Given the description of an element on the screen output the (x, y) to click on. 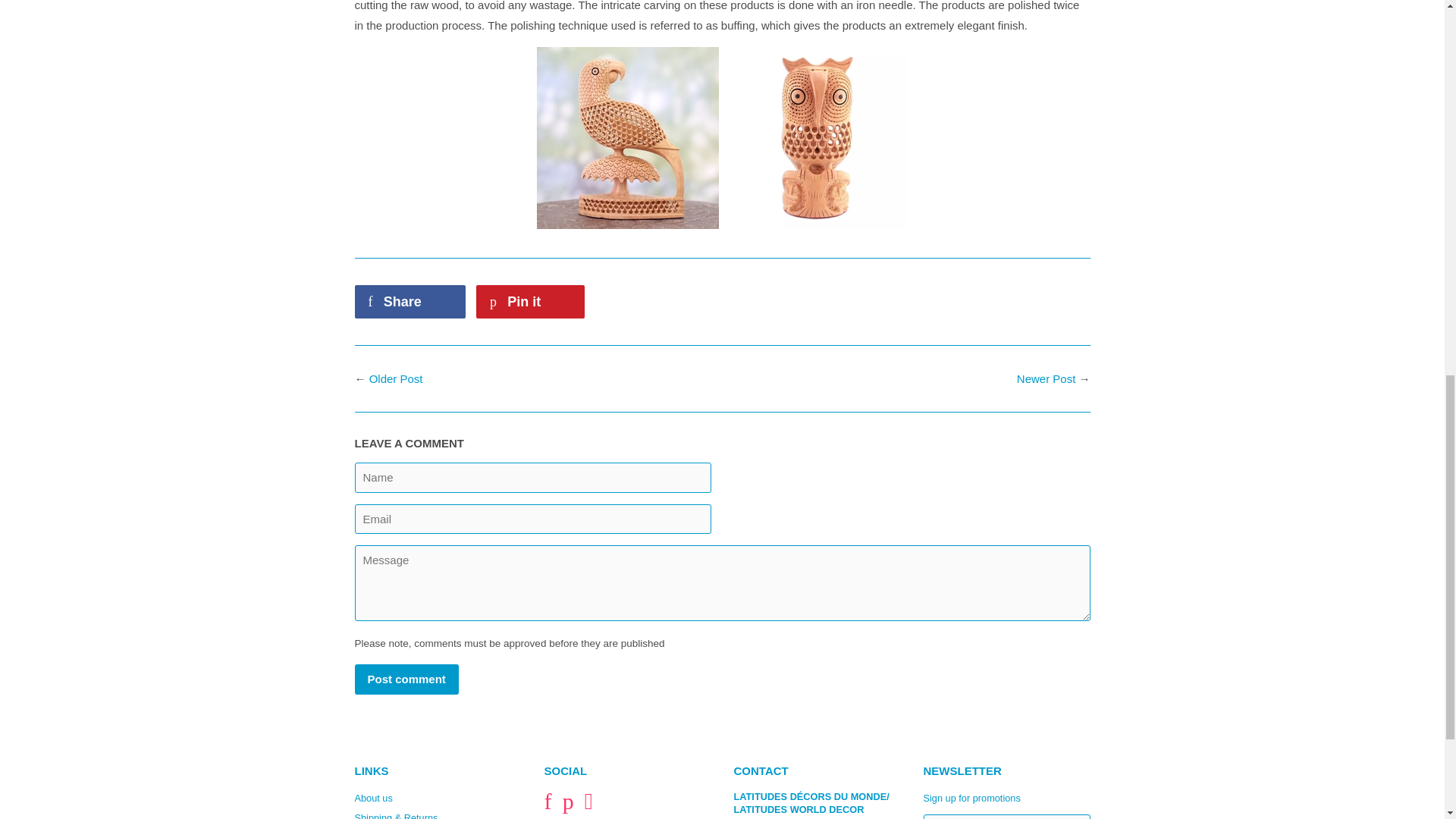
Pin on Pinterest (530, 301)
Share on Facebook (410, 301)
Post comment (406, 678)
